Given the description of an element on the screen output the (x, y) to click on. 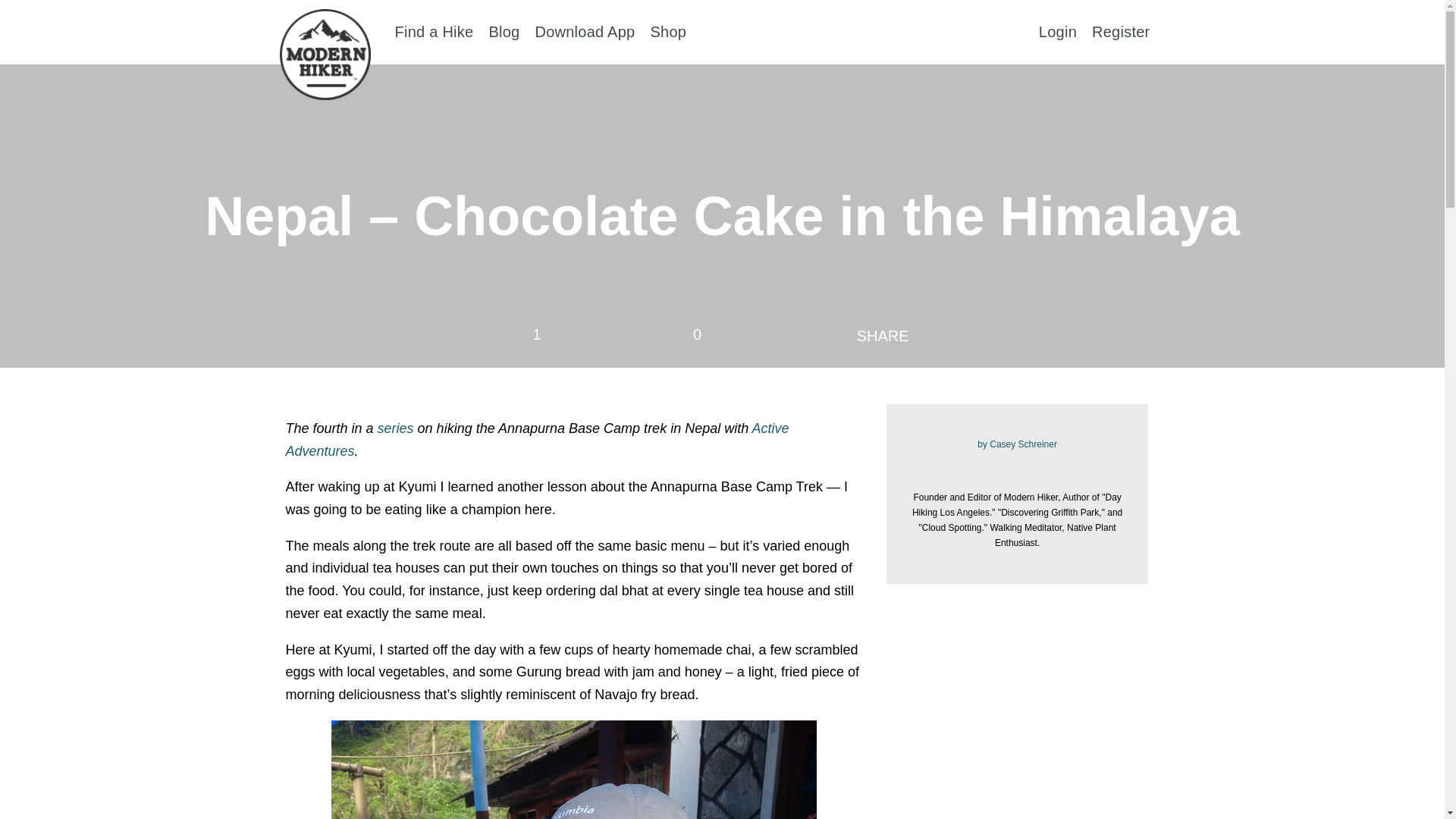
Find a Hike (433, 30)
Shop (667, 30)
Active Adventures (537, 439)
Blog (503, 30)
Download App (584, 30)
SHARE (882, 336)
series (395, 427)
Login (1058, 30)
Register (1121, 30)
